Given the description of an element on the screen output the (x, y) to click on. 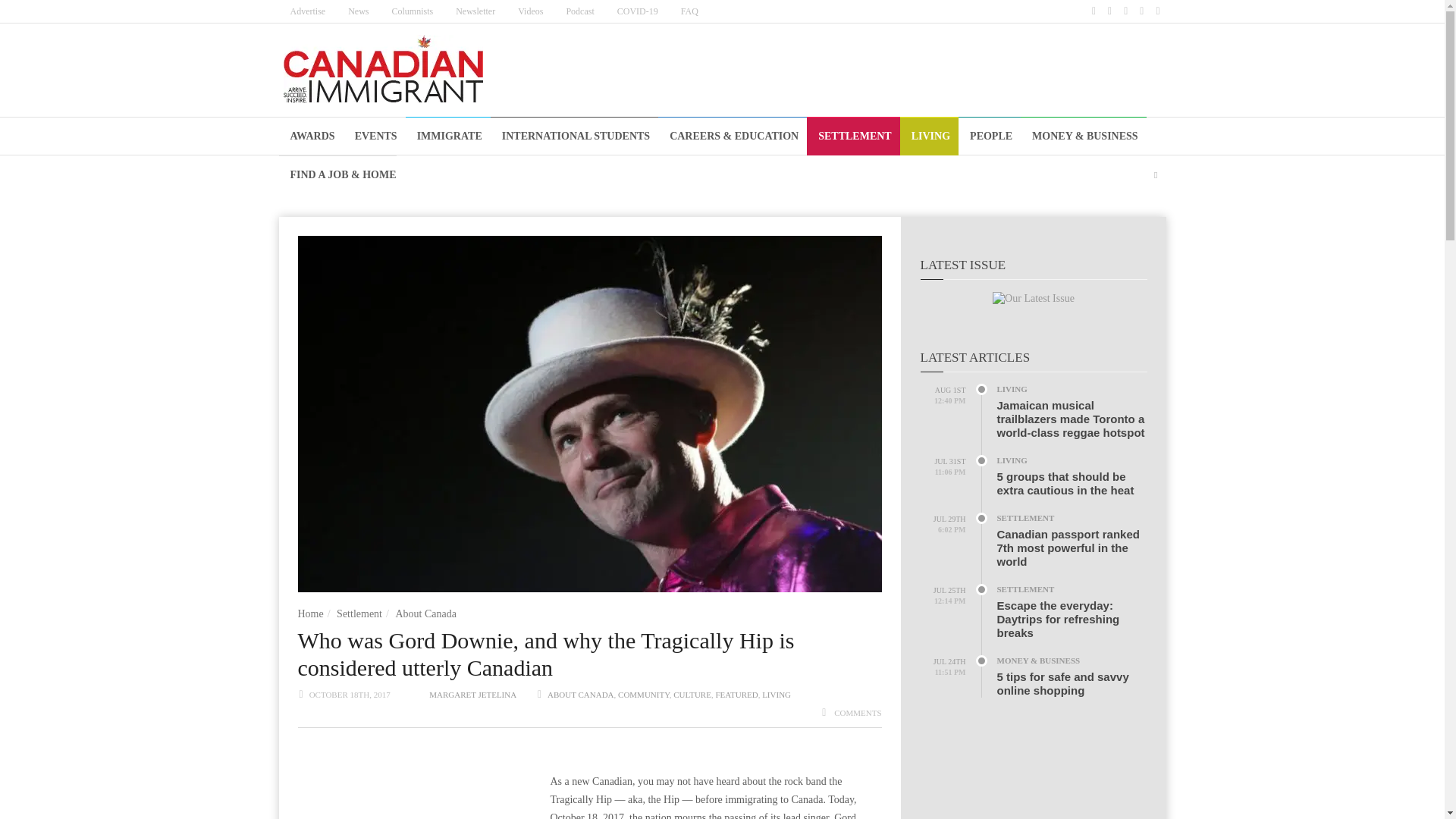
View all posts in Featured (735, 694)
Settlement (358, 613)
About Canada (424, 613)
View all posts in Community (643, 694)
View all posts in Culture (691, 694)
View all posts in Living (775, 694)
View all posts in About Canada (580, 694)
